Given the description of an element on the screen output the (x, y) to click on. 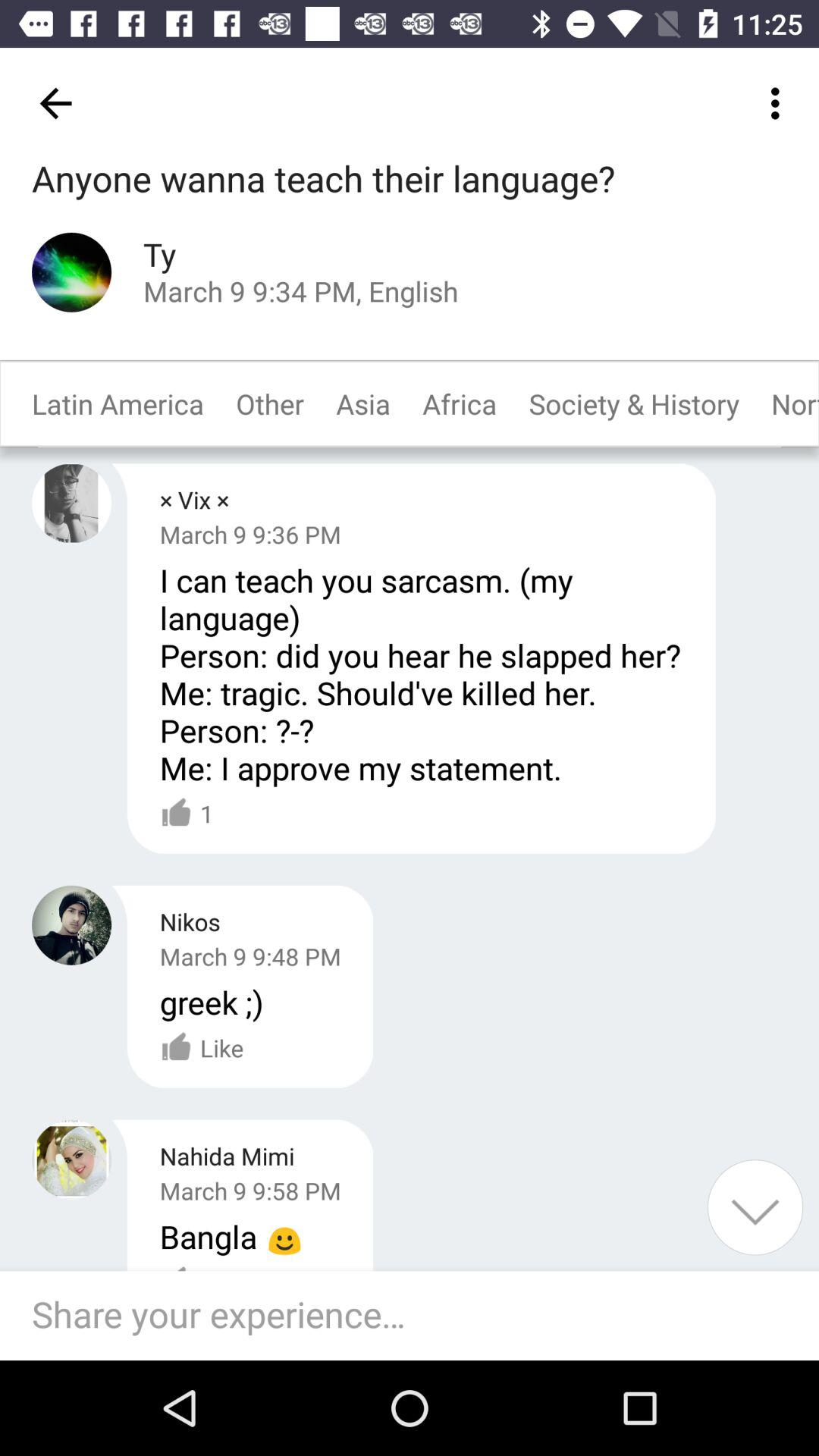
press icon above the society & history icon (779, 103)
